Given the description of an element on the screen output the (x, y) to click on. 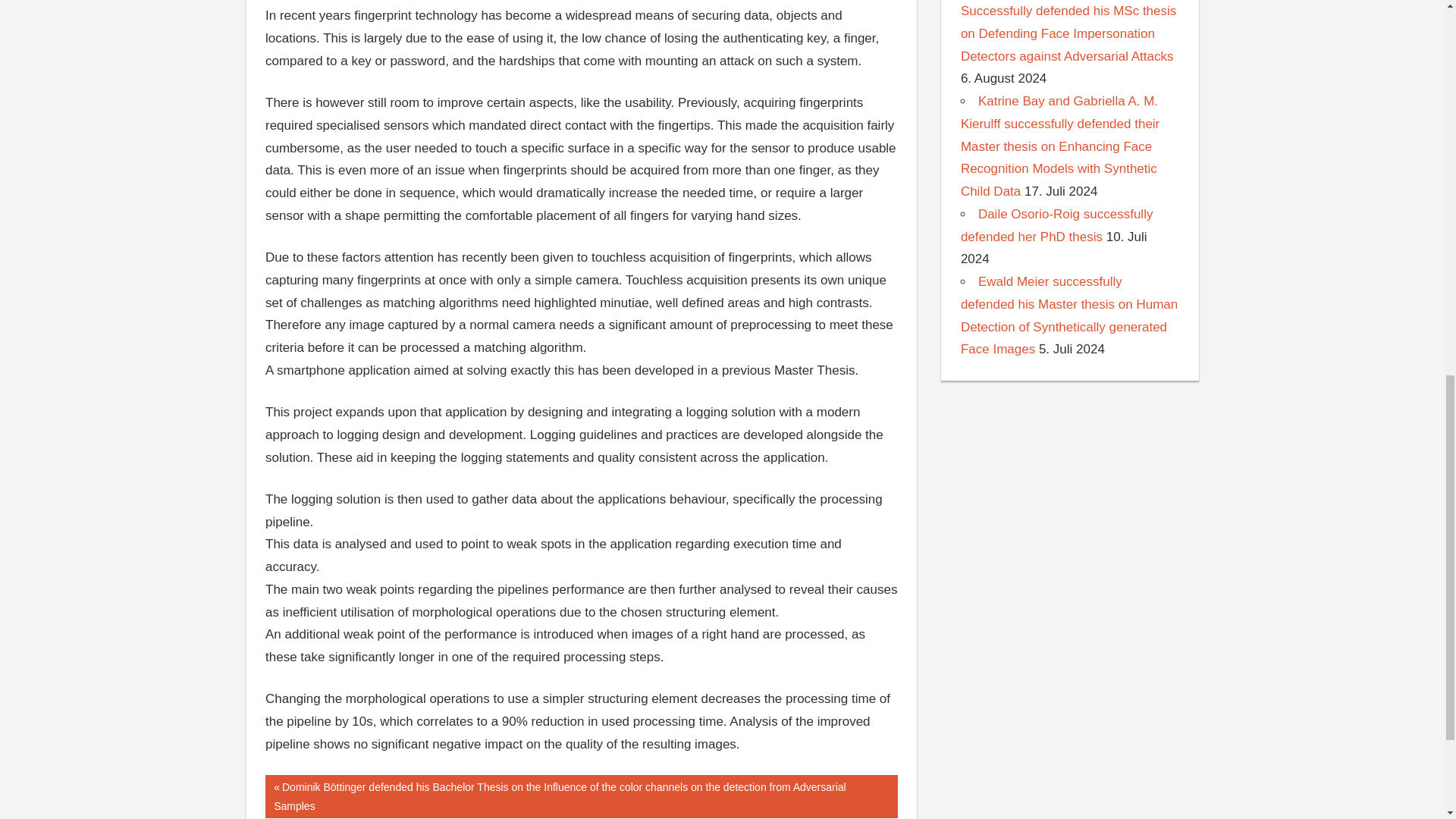
Daile Osorio-Roig successfully defended her PhD thesis (1056, 225)
